Given the description of an element on the screen output the (x, y) to click on. 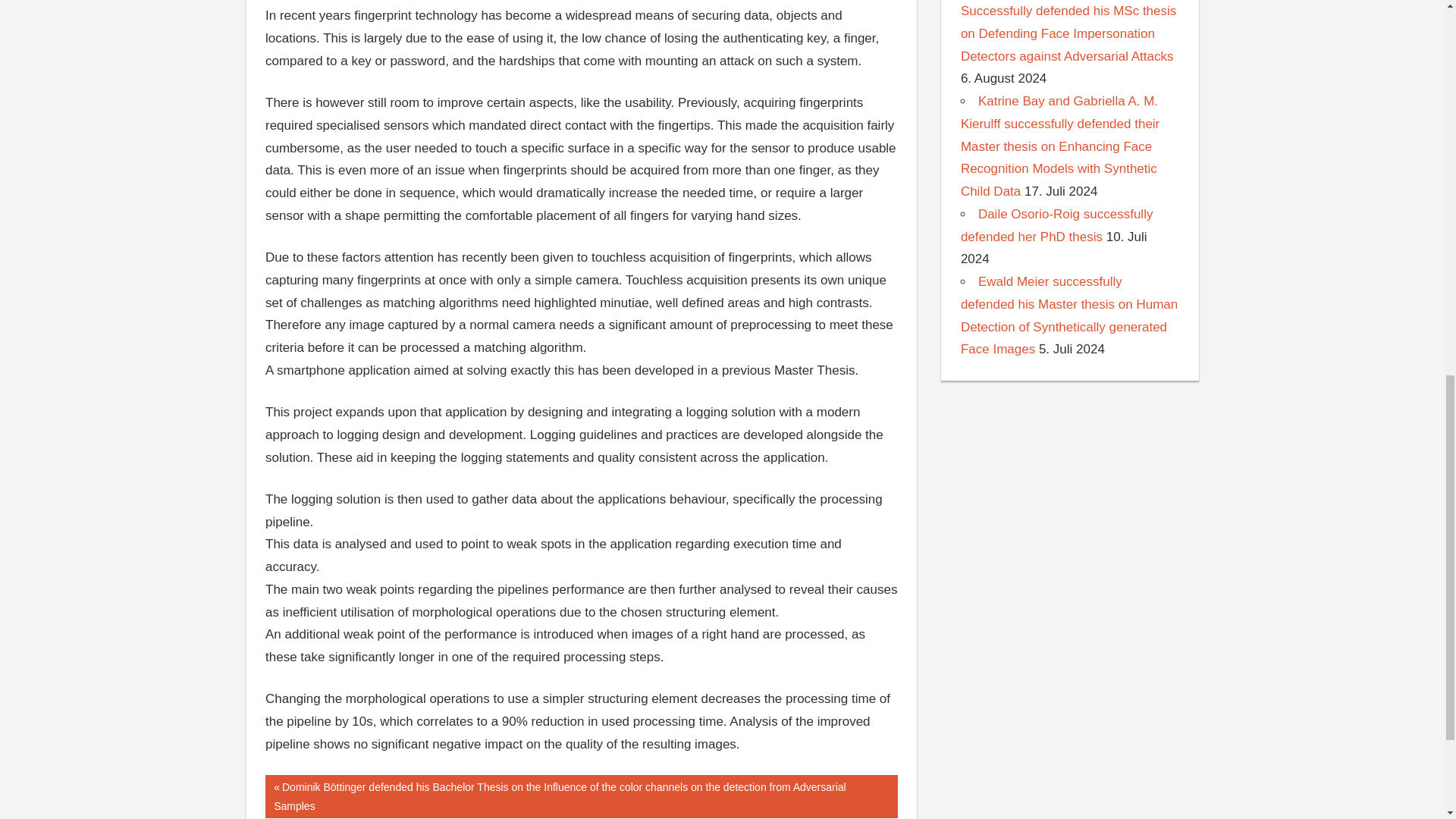
Daile Osorio-Roig successfully defended her PhD thesis (1056, 225)
